Given the description of an element on the screen output the (x, y) to click on. 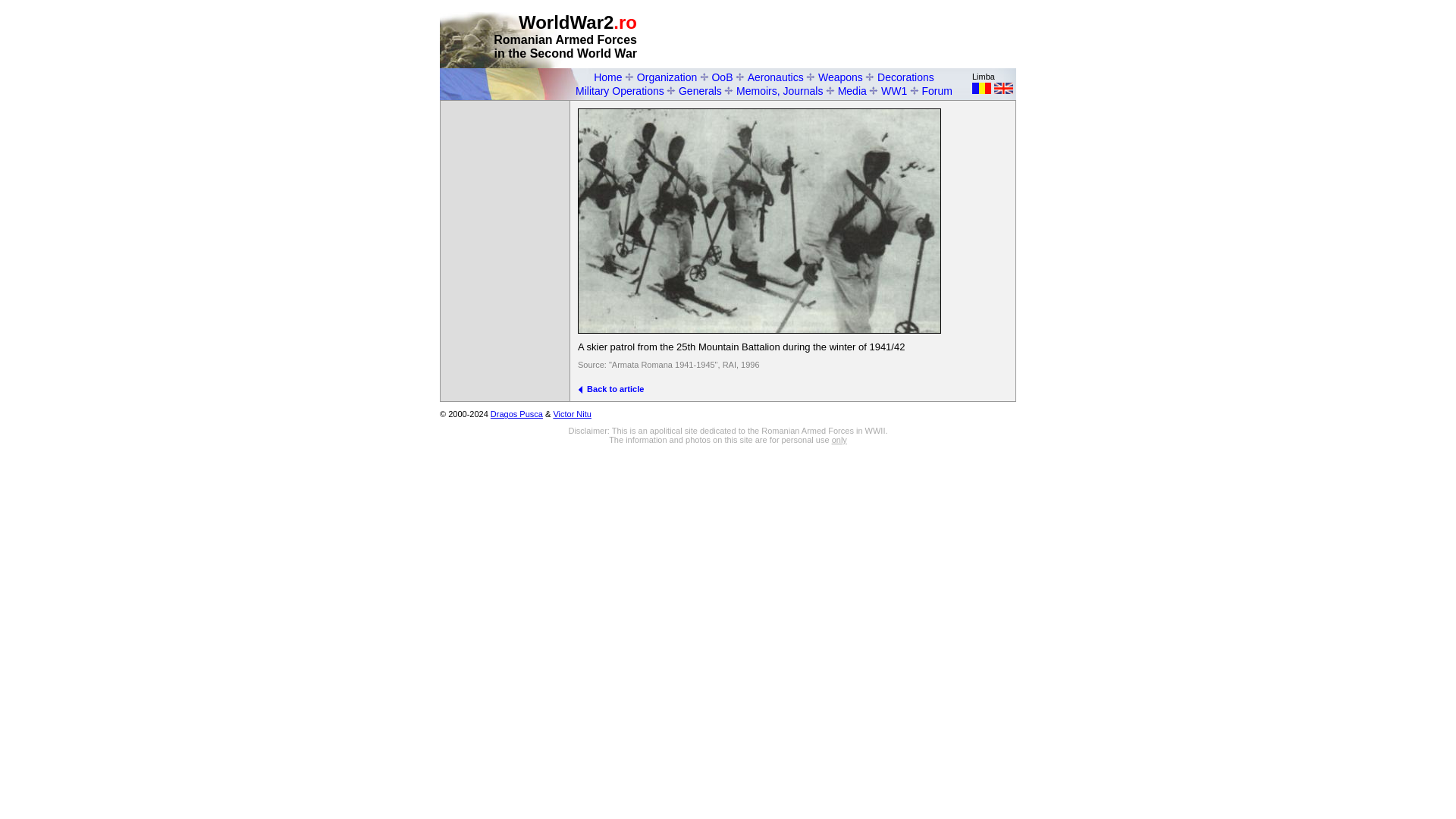
Organization (667, 77)
Decorations (905, 77)
Weapons (840, 77)
Home (607, 77)
Aeronautics (775, 77)
Media (852, 91)
  Back to article (610, 388)
Military Operations (619, 91)
Victor Nitu (572, 413)
Generals (700, 91)
